Given the description of an element on the screen output the (x, y) to click on. 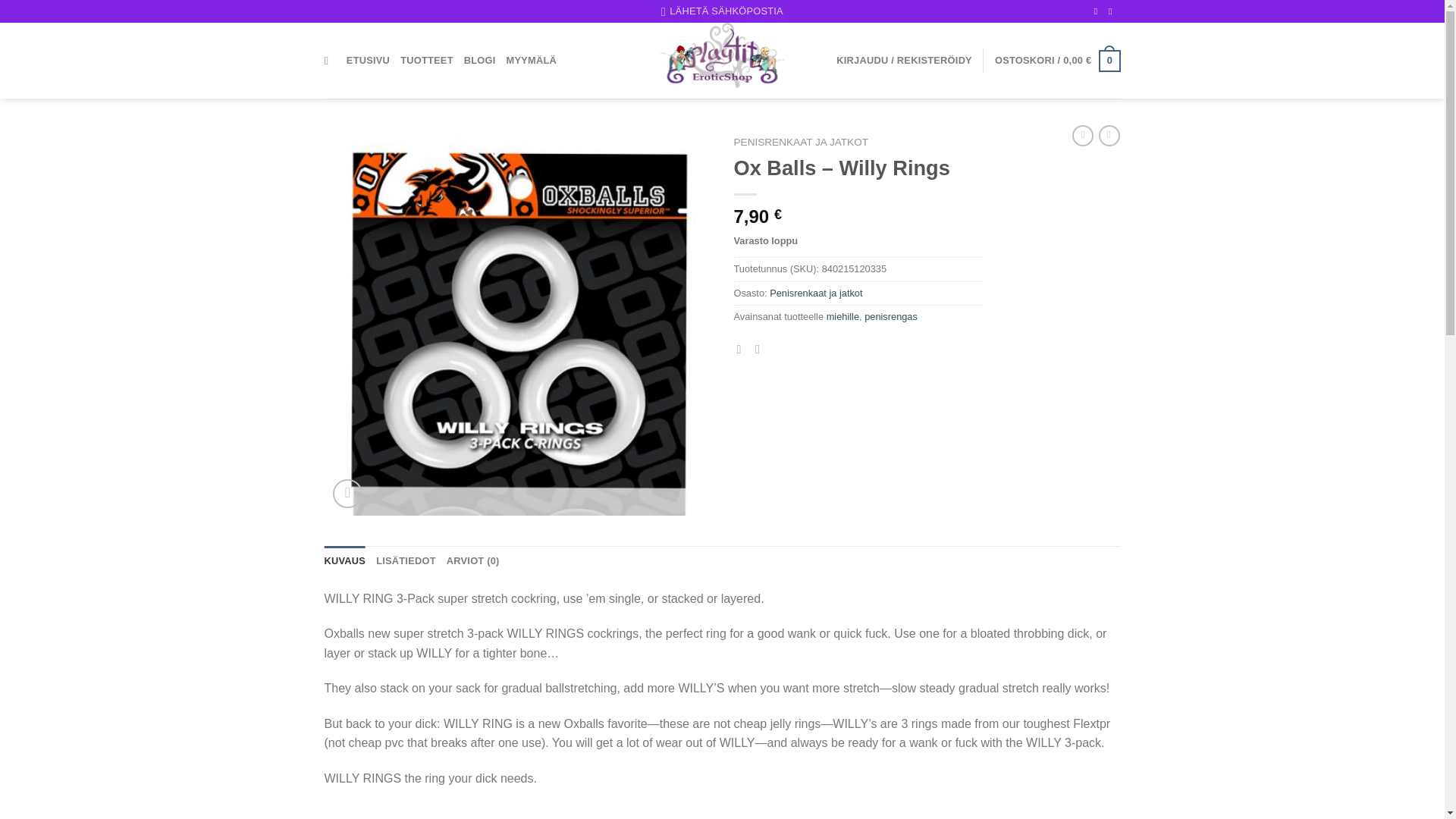
Ostoskori (1057, 61)
Play4it Eroticshop - Erotiikan verkkokauppa (721, 60)
KUVAUS (345, 561)
penisrengas (890, 316)
PENISRENKAAT JA JATKOT (801, 142)
TUOTTEET (426, 60)
ETUSIVU (368, 60)
miehille (843, 316)
Penisrenkaat ja jatkot (815, 292)
BLOGI (480, 60)
